Given the description of an element on the screen output the (x, y) to click on. 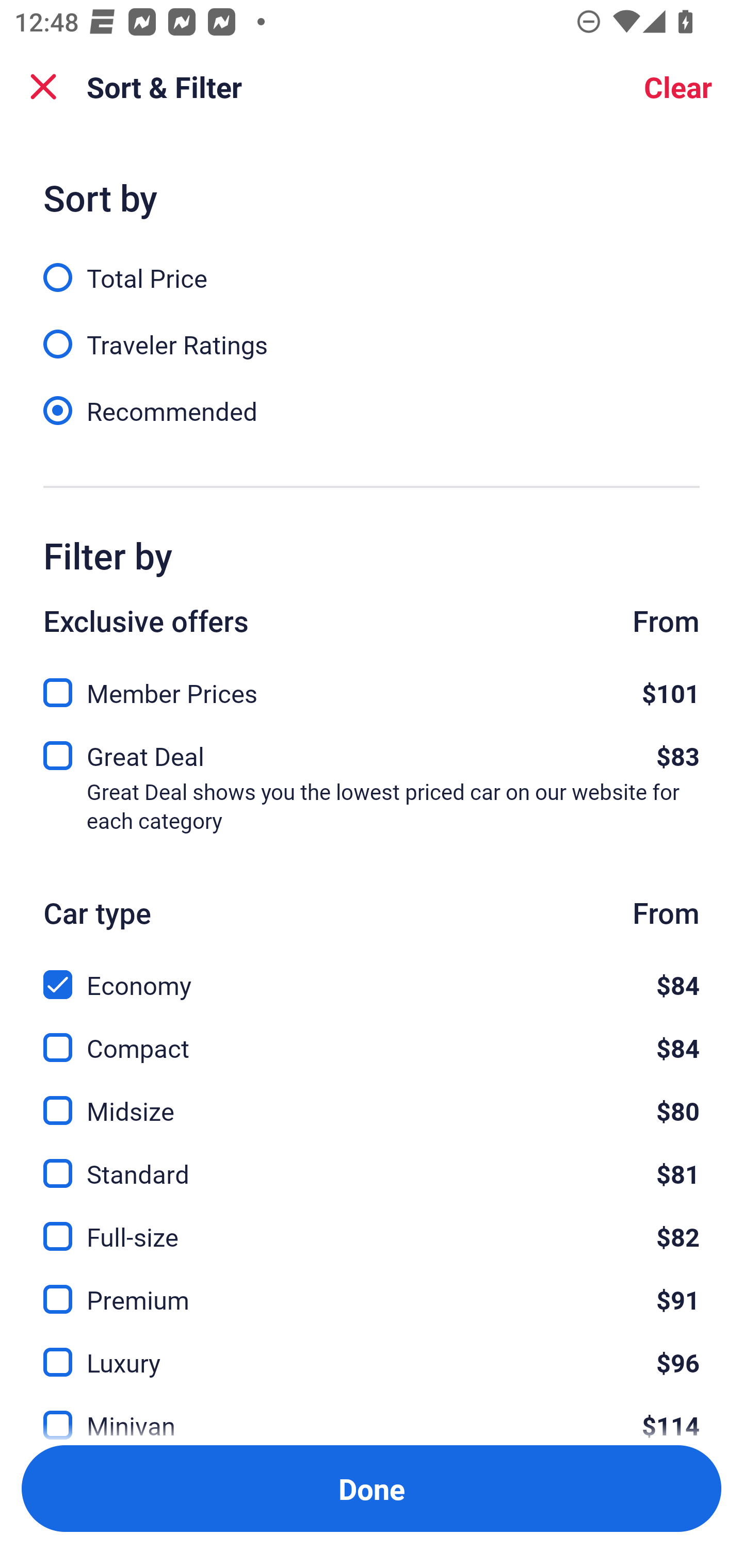
Close Sort and Filter (43, 86)
Clear (677, 86)
Total Price (371, 266)
Traveler Ratings (371, 332)
Member Prices, $101 Member Prices $101 (371, 686)
Economy, $84 Economy $84 (371, 973)
Compact, $84 Compact $84 (371, 1036)
Midsize, $80 Midsize $80 (371, 1098)
Standard, $81 Standard $81 (371, 1161)
Full-size, $82 Full-size $82 (371, 1224)
Premium, $91 Premium $91 (371, 1286)
Luxury, $96 Luxury $96 (371, 1350)
Minivan, $114 Minivan $114 (371, 1413)
Apply and close Sort and Filter Done (371, 1488)
